Given the description of an element on the screen output the (x, y) to click on. 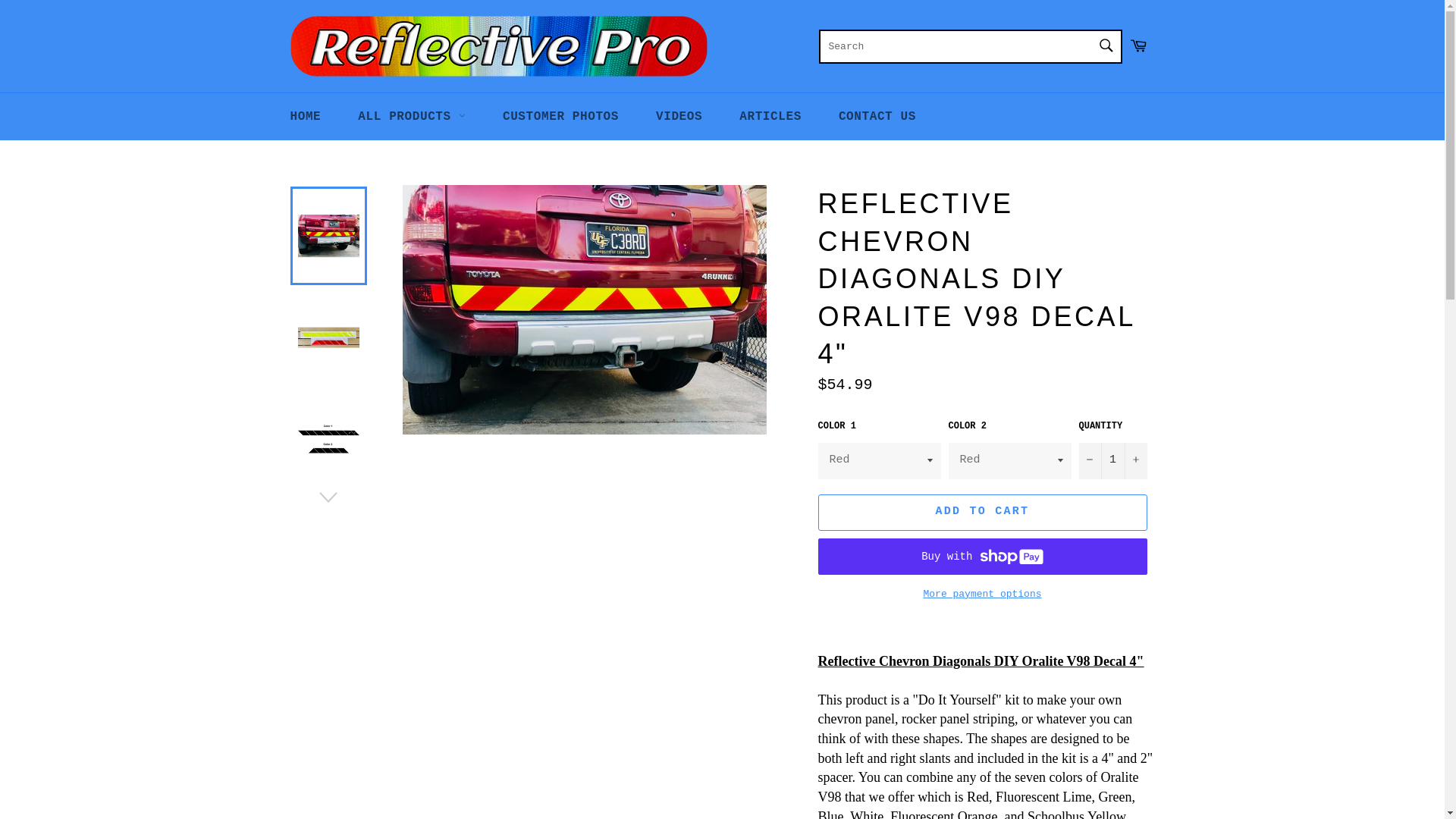
ALL PRODUCTS (411, 116)
Cart (1138, 45)
Search (1104, 44)
HOME (305, 116)
1 (1112, 461)
